Given the description of an element on the screen output the (x, y) to click on. 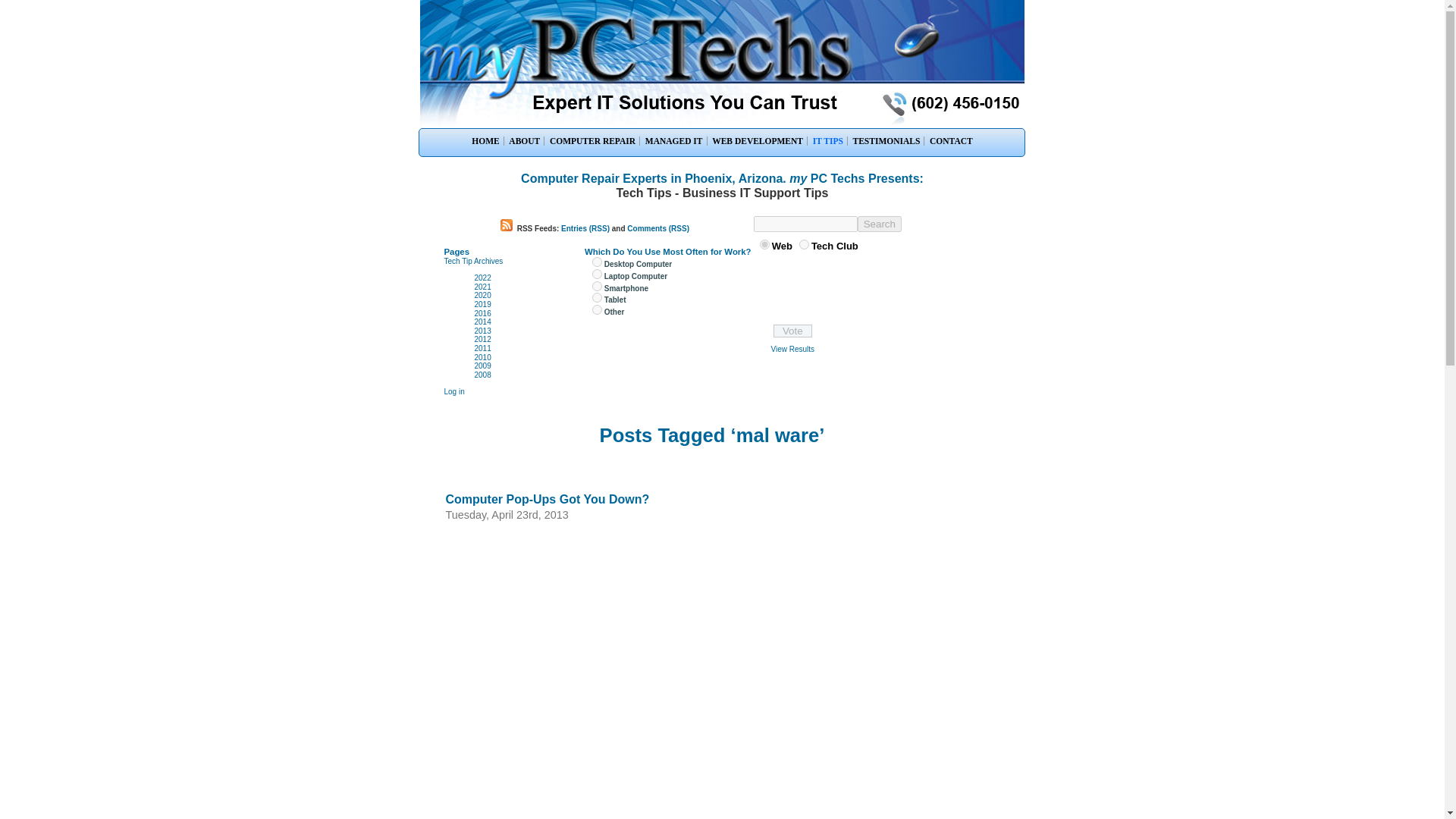
WEB DEVELOPMENT (757, 140)
About Tech Club (473, 261)
2010 (482, 356)
2014 (482, 321)
www.mypctechs.com (804, 244)
Search (879, 223)
View Results Of This Poll (791, 348)
20 (597, 261)
Search mypctechs.com (834, 246)
Tech Tip Archives (473, 261)
Search the Web (781, 246)
TESTIMONIALS (886, 140)
Search (879, 223)
2012 (482, 338)
Business IT Tips from Tech Club (828, 140)
